Given the description of an element on the screen output the (x, y) to click on. 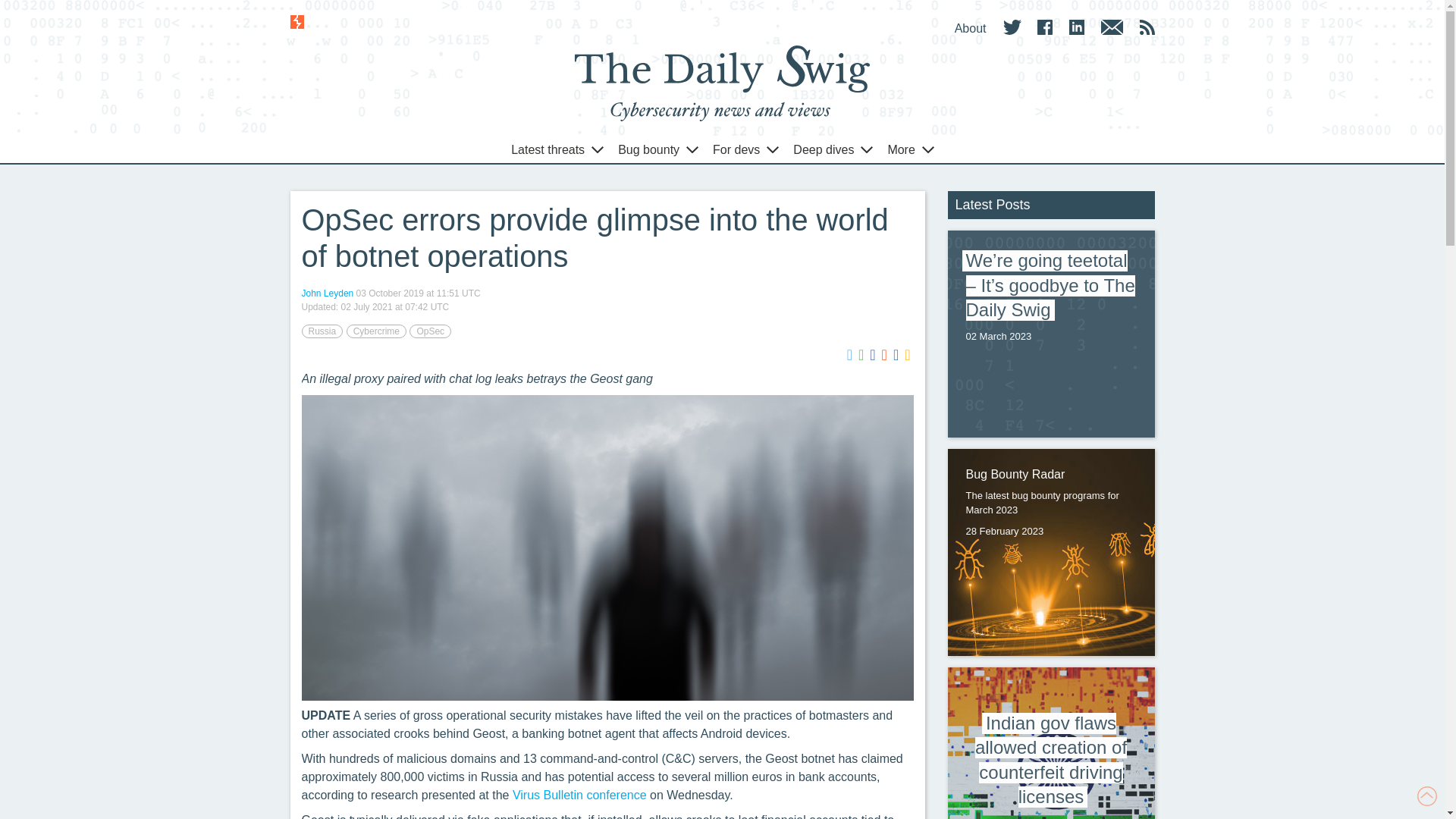
OpSec (430, 331)
Russia (322, 331)
John Leyden (327, 293)
Cybercrime (376, 331)
